Given the description of an element on the screen output the (x, y) to click on. 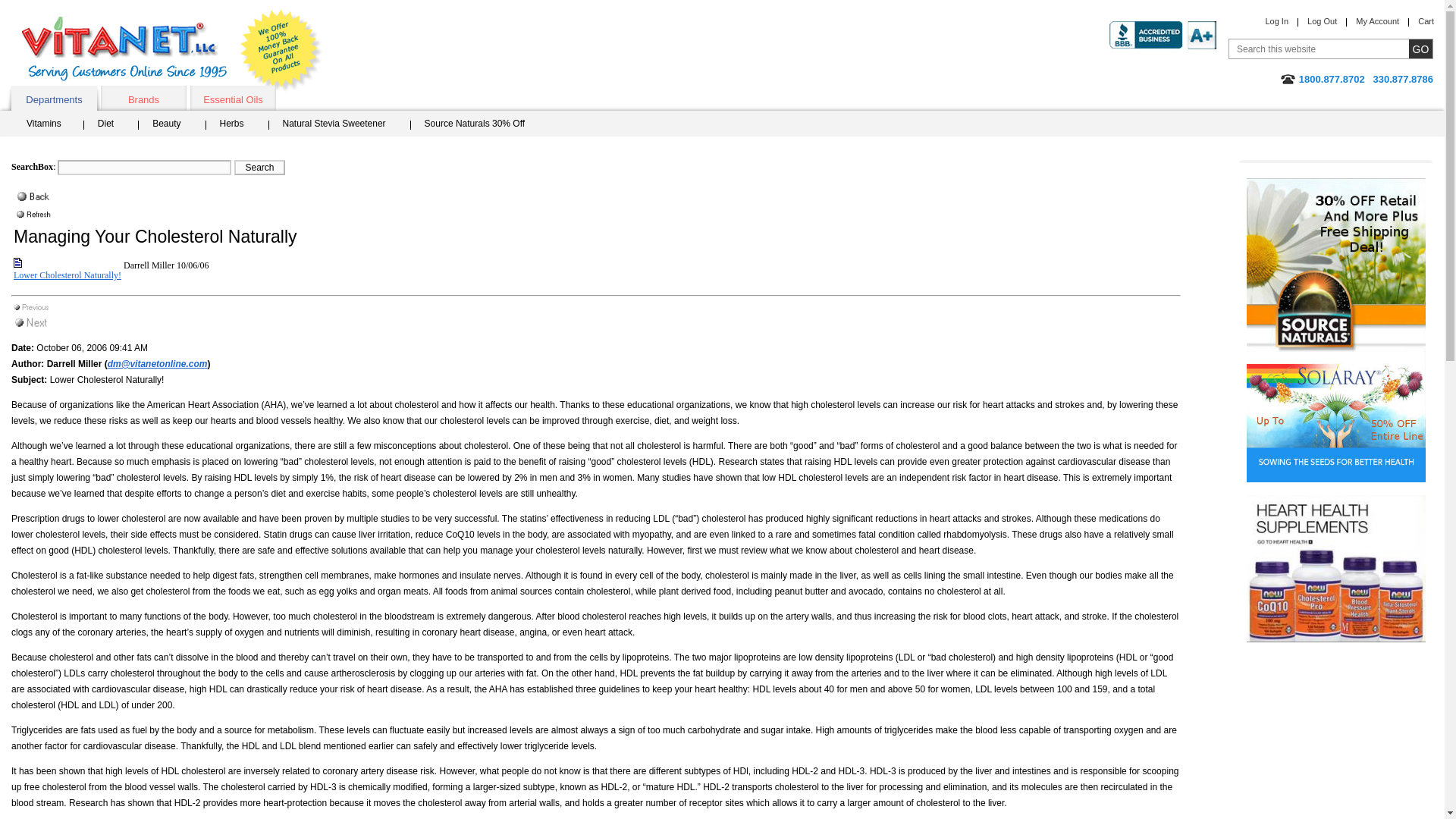
go (1420, 48)
Solaray bran vitamins at great prices (1335, 423)
Lower Cholesterol Naturally! (66, 275)
Vitamins (51, 125)
Natural Stevia Sweetener (338, 125)
  Search   (259, 167)
go (1420, 48)
Herbs (236, 125)
Diet (110, 125)
  Search   (259, 167)
Brands (143, 97)
My Account (1377, 20)
Essential Oils (233, 97)
Departments (54, 97)
Cart (1426, 20)
